Given the description of an element on the screen output the (x, y) to click on. 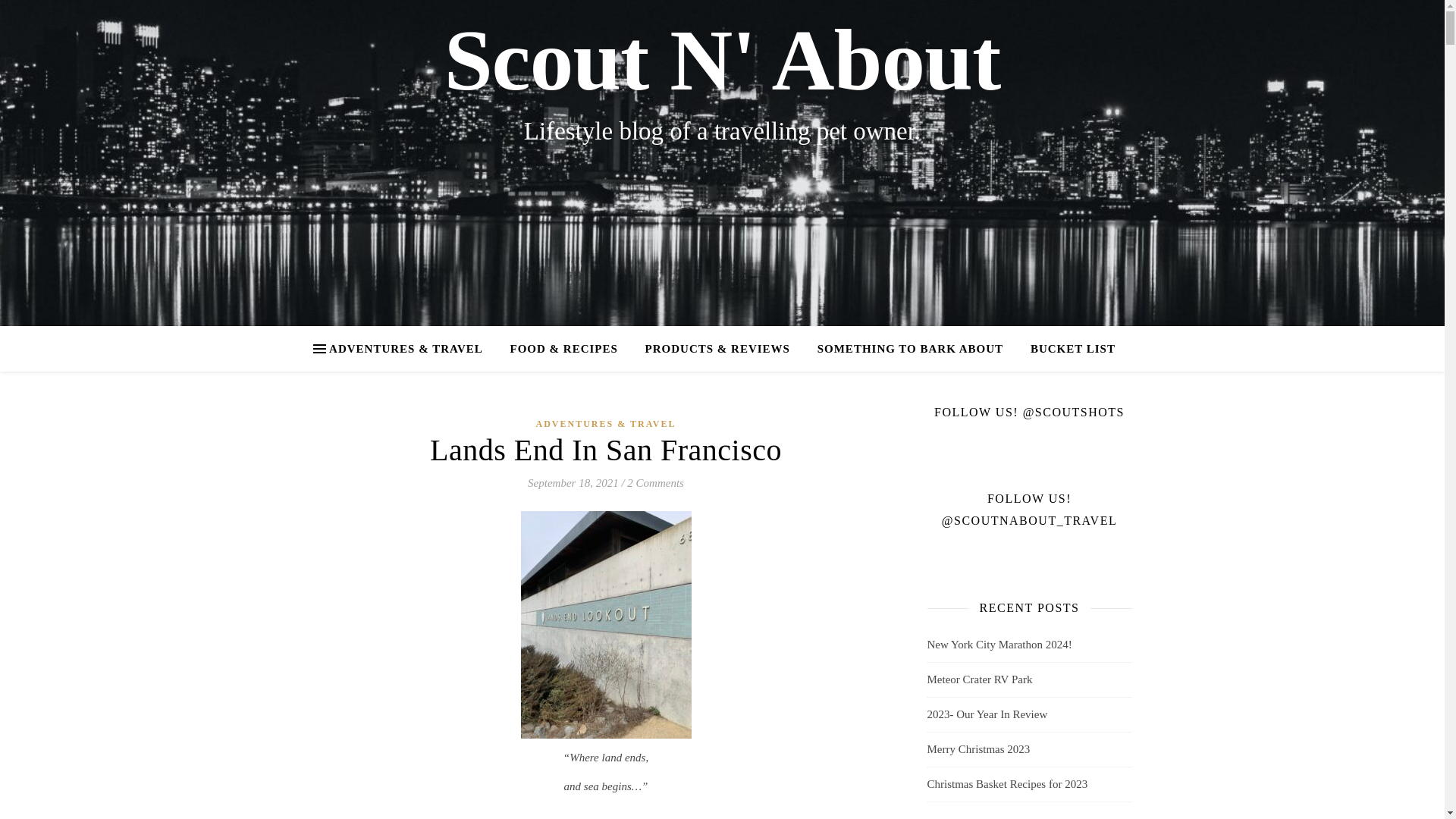
Meteor Crater RV Park (979, 679)
New York City Marathon 2024! (998, 644)
Merry Christmas 2023 (977, 748)
Christmas Basket Recipes for 2023 (1006, 784)
2 Comments (655, 482)
SOMETHING TO BARK ABOUT (909, 348)
2023- Our Year In Review (986, 714)
BUCKET LIST (1066, 348)
Scout N' About (722, 60)
